Given the description of an element on the screen output the (x, y) to click on. 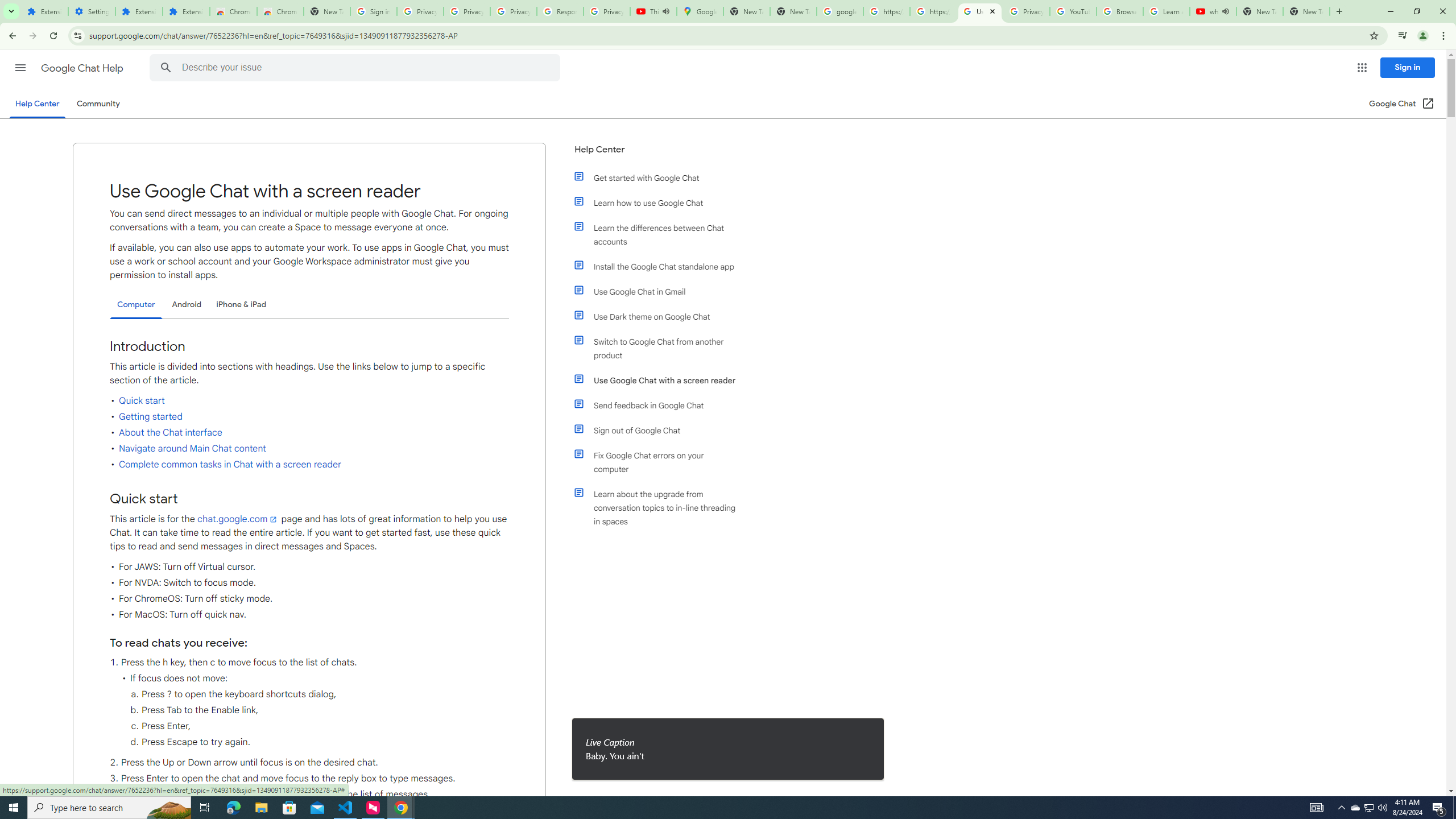
Use Google Chat with a screen reader (661, 380)
Help Center (656, 153)
New Tab (326, 11)
Main menu (20, 67)
Install the Google Chat standalone app (661, 266)
Android (186, 304)
Search Help Center (165, 67)
Navigate around Main Chat content (192, 448)
